Given the description of an element on the screen output the (x, y) to click on. 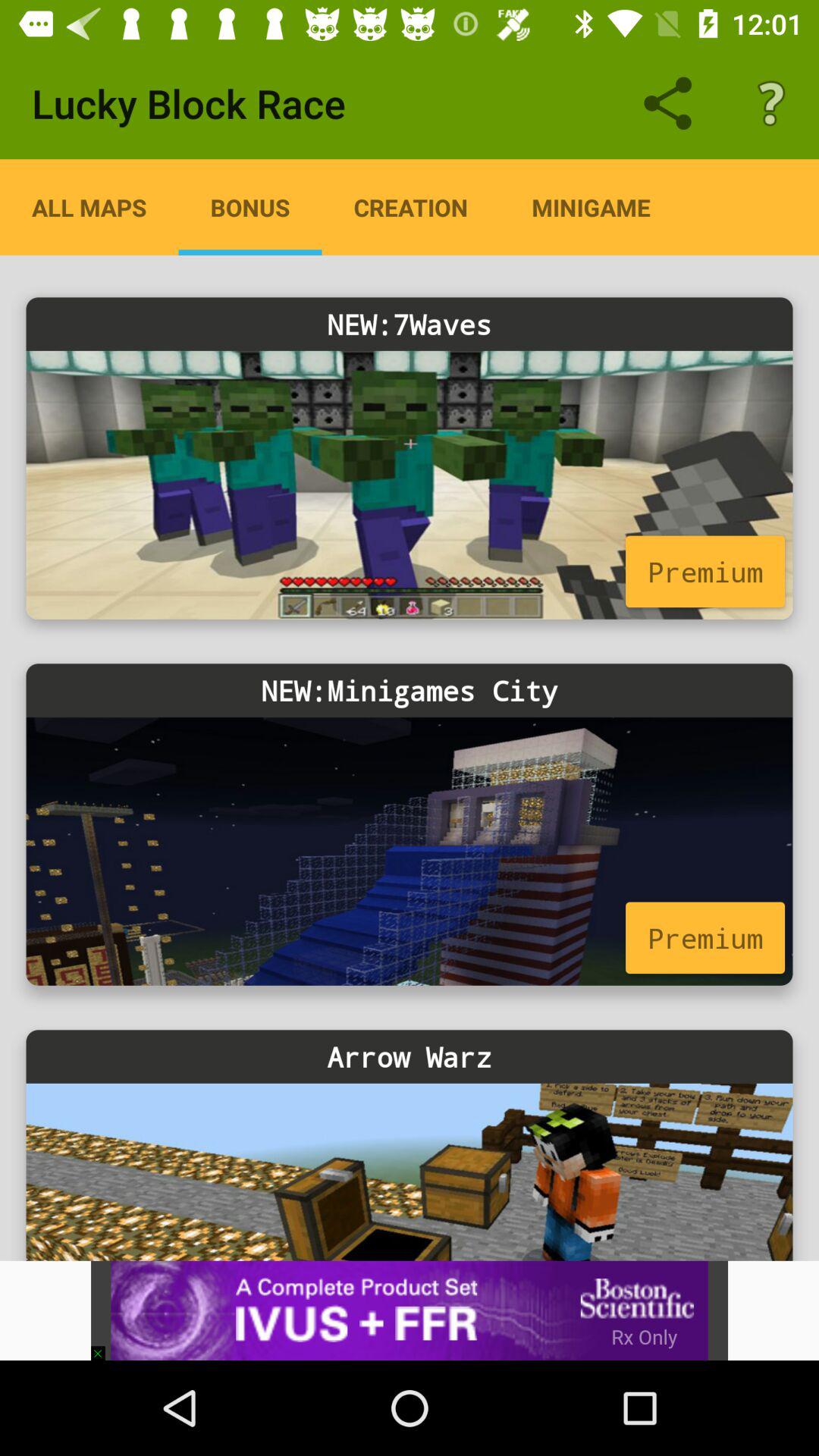
open advertisement (409, 1310)
